Given the description of an element on the screen output the (x, y) to click on. 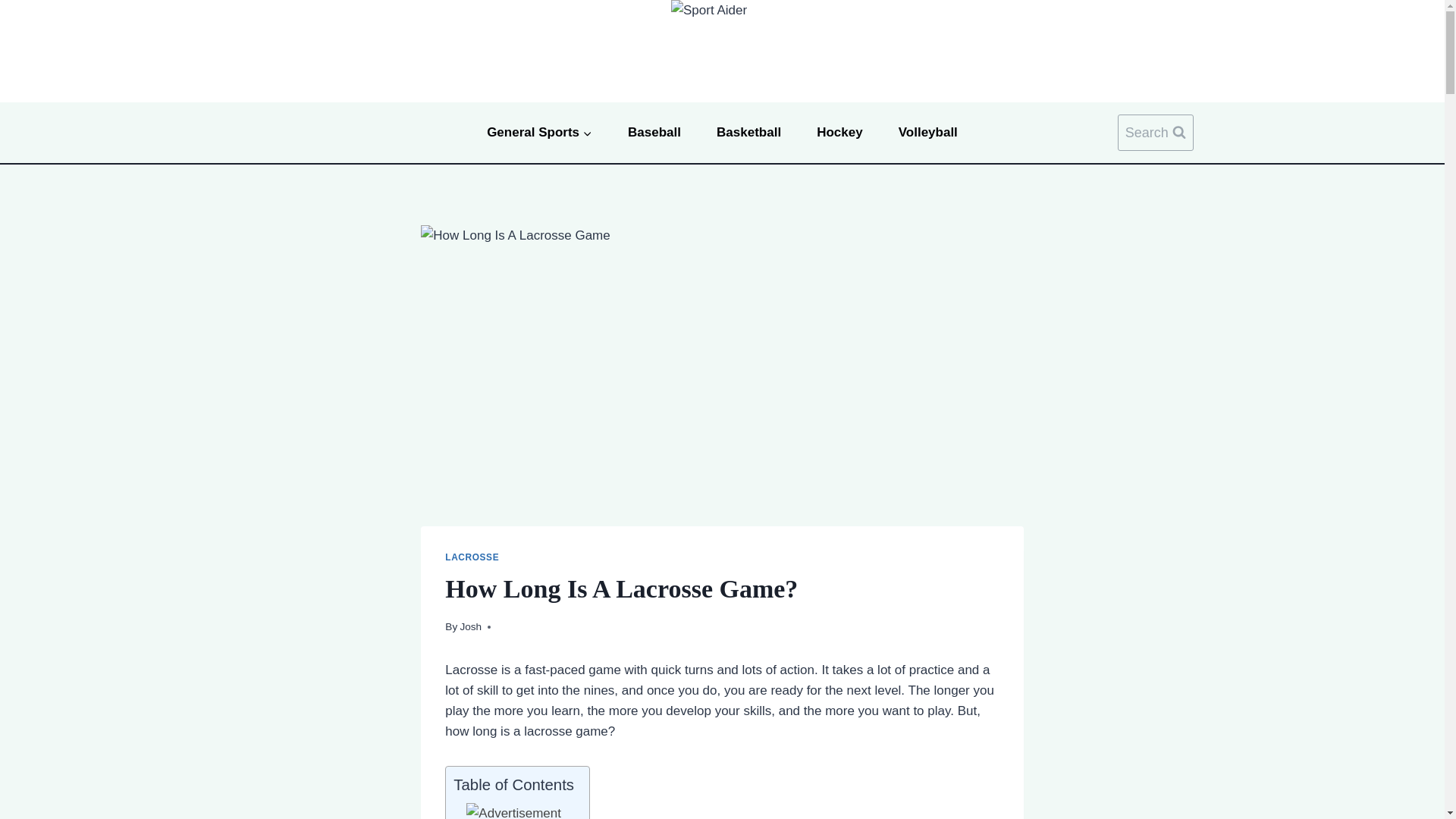
Basketball (748, 132)
LACROSSE (472, 557)
Search (1155, 132)
Hockey (839, 132)
Josh (470, 626)
General Sports (539, 132)
Baseball (654, 132)
Volleyball (927, 132)
